Given the description of an element on the screen output the (x, y) to click on. 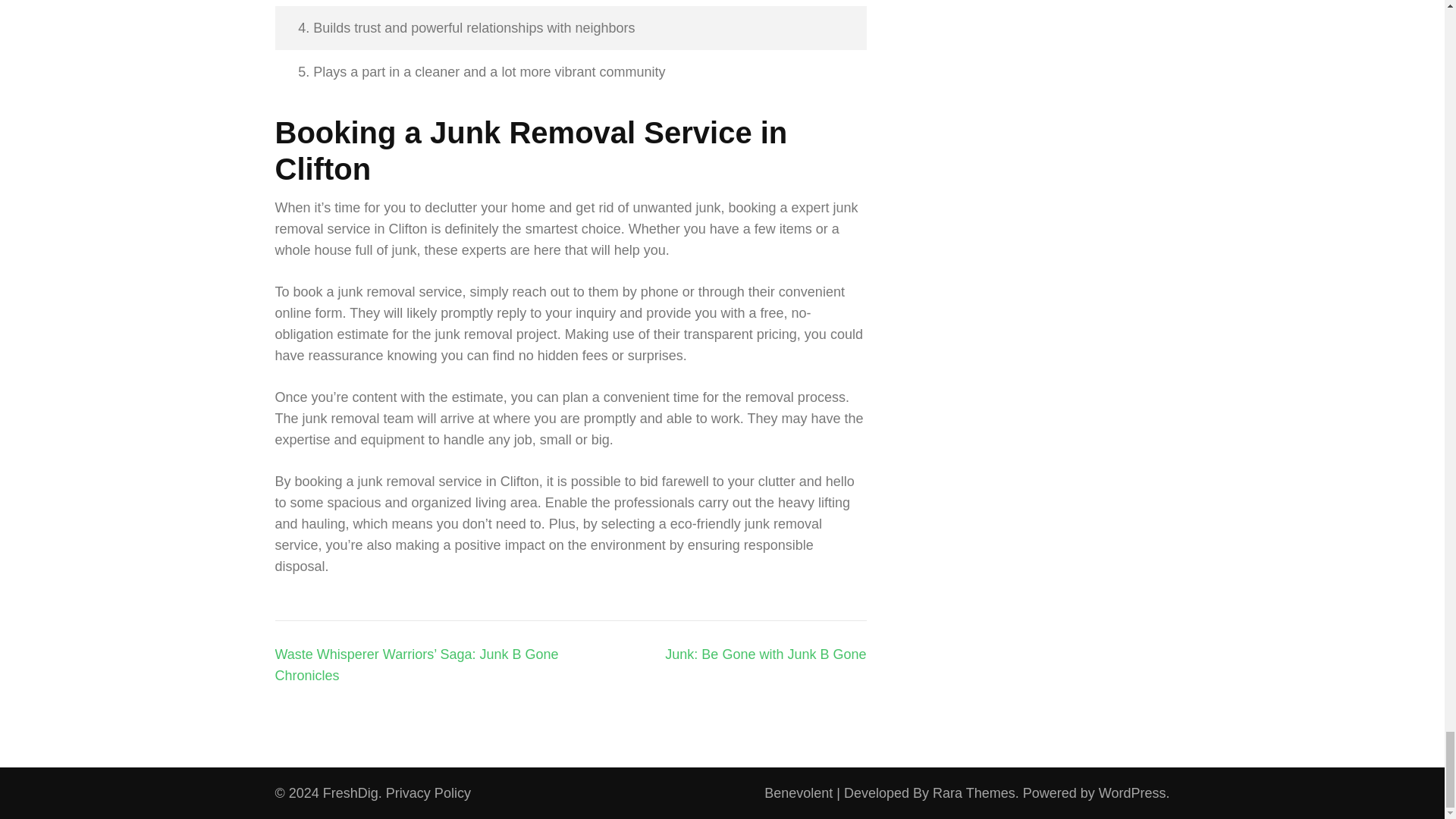
Junk: Be Gone with Junk B Gone (765, 654)
